Given the description of an element on the screen output the (x, y) to click on. 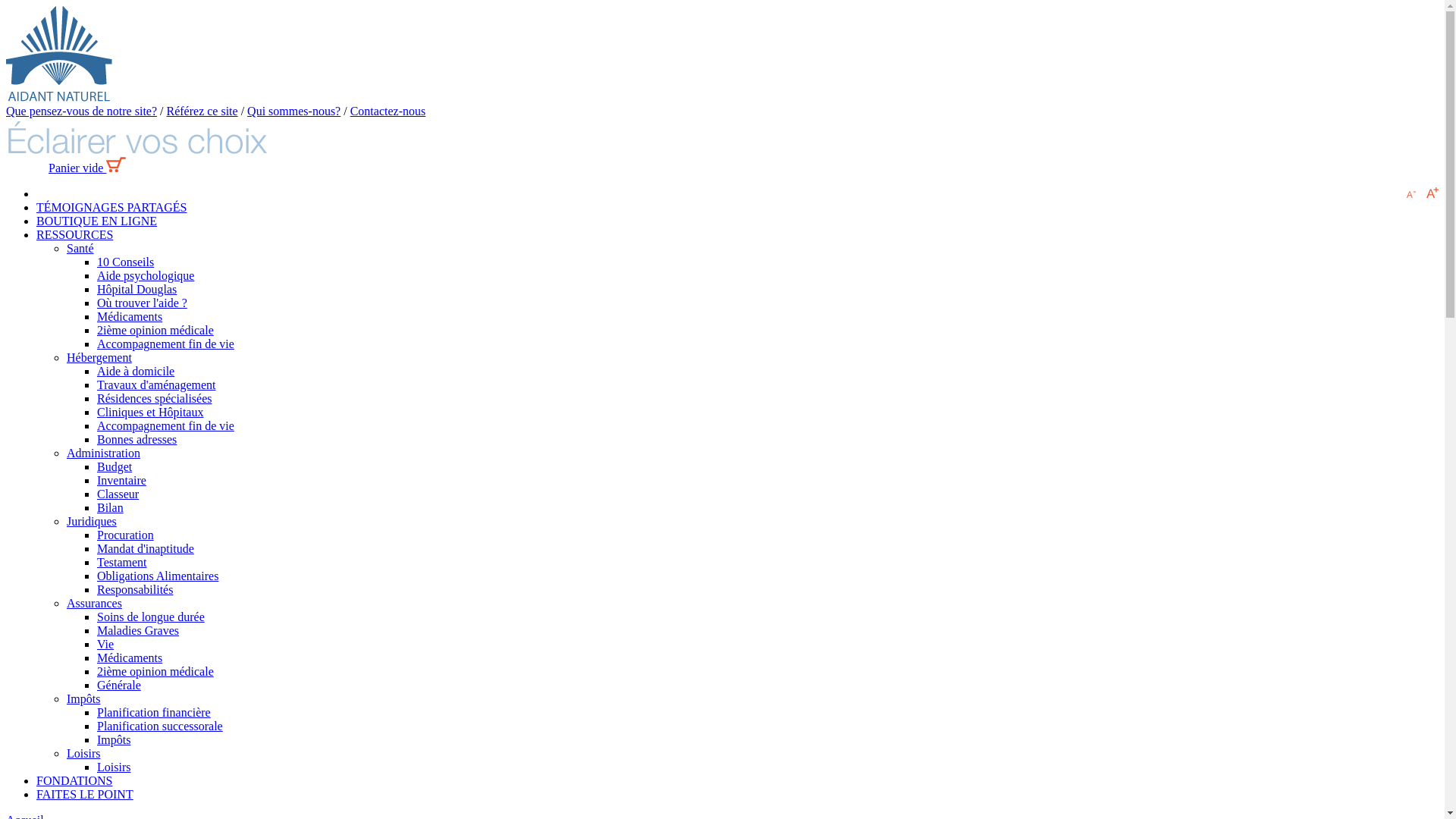
BOUTIQUE EN LIGNE Element type: text (96, 220)
Accompagnement fin de vie Element type: text (165, 425)
Juridiques Element type: text (91, 520)
Loisirs Element type: text (83, 752)
Administration Element type: text (103, 452)
Panier vide Element type: text (86, 167)
Mandat d'inaptitude Element type: text (145, 548)
FAITES LE POINT Element type: text (84, 793)
Loisirs Element type: text (113, 766)
Inventaire Element type: text (121, 479)
Qui sommes-nous? Element type: text (293, 110)
FONDATIONS Element type: text (74, 780)
RESSOURCES Element type: text (74, 234)
Accompagnement fin de vie Element type: text (165, 343)
Assurances Element type: text (94, 602)
Bilan Element type: text (110, 507)
Testament Element type: text (122, 561)
Contactez-nous Element type: text (388, 110)
Aide psychologique Element type: text (145, 275)
Maladies Graves Element type: text (137, 630)
Planification successorale Element type: text (159, 725)
Obligations Alimentaires Element type: text (157, 575)
Budget Element type: text (114, 466)
Bonnes adresses Element type: text (136, 439)
10 Conseils Element type: text (125, 261)
Procuration Element type: text (125, 534)
Classeur Element type: text (117, 493)
Vie Element type: text (105, 643)
Que pensez-vous de notre site? Element type: text (81, 110)
